Given the description of an element on the screen output the (x, y) to click on. 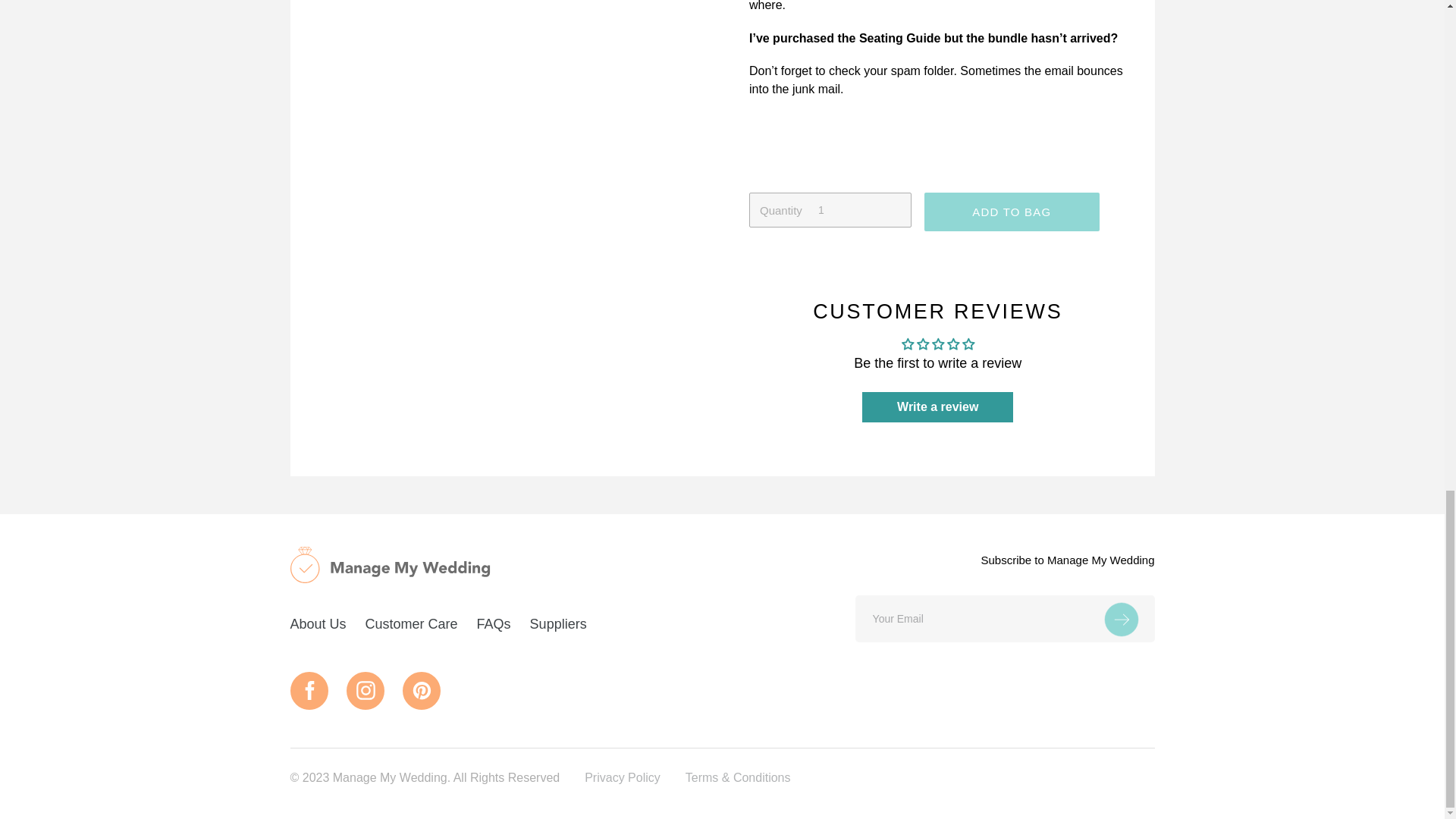
Write a review (937, 407)
About Us (317, 623)
1 (830, 209)
FAQs (494, 623)
Suppliers (557, 623)
ADD TO BAG (1011, 210)
Customer Care (411, 623)
